Given the description of an element on the screen output the (x, y) to click on. 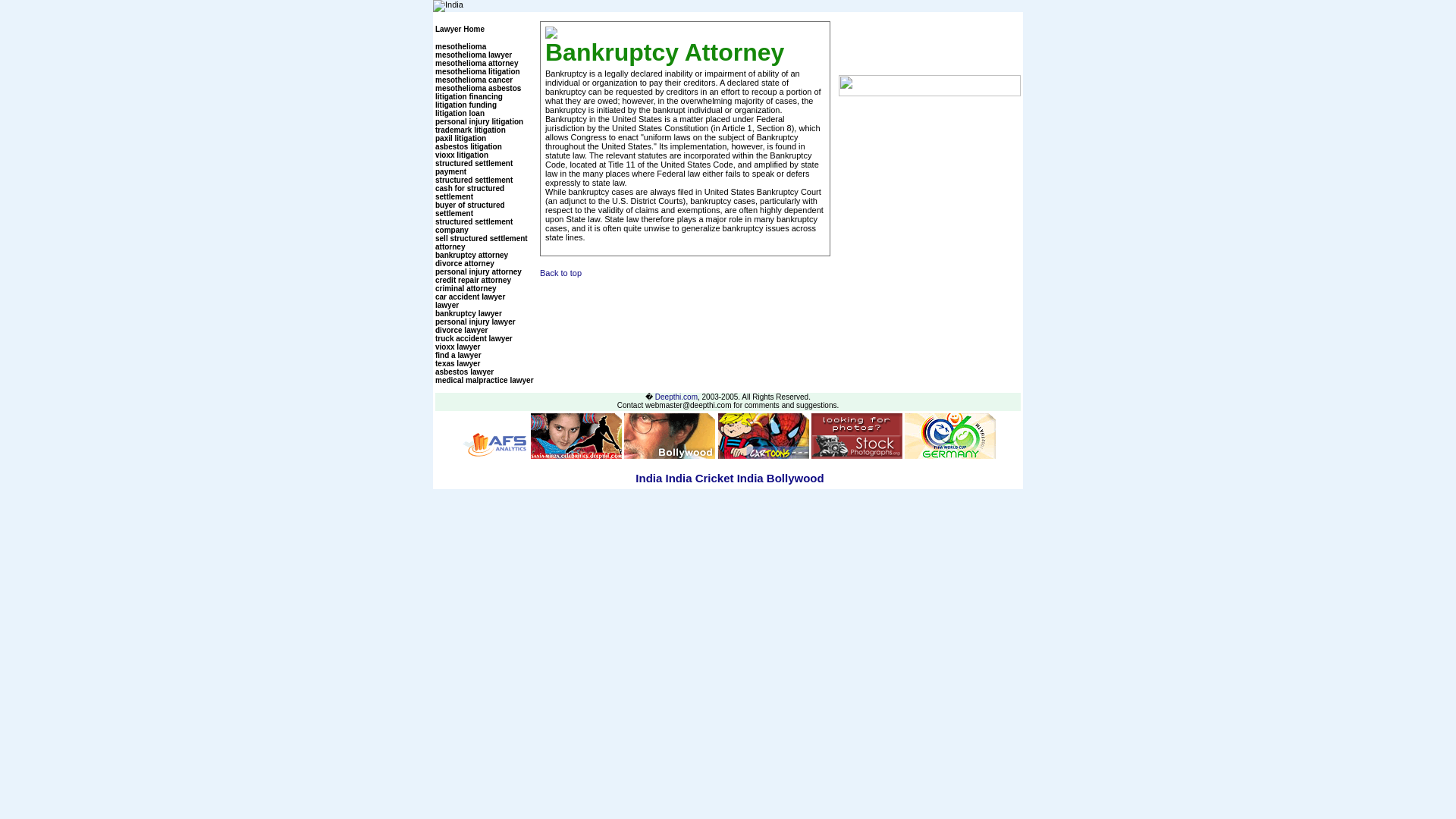
structured settlement company (473, 225)
bankruptcy attorney (471, 254)
personal injury lawyer (475, 321)
divorce lawyer (461, 329)
structured settlement payment (473, 167)
attorney (449, 246)
trademark litigation (470, 130)
Back to top (567, 272)
structured settlement (473, 180)
vioxx lawyer (457, 347)
Deepthi.com (676, 397)
lawyer (446, 305)
truck accident lawyer (473, 338)
cash for structured settlement (469, 192)
bankruptcy lawyer (468, 313)
